Given the description of an element on the screen output the (x, y) to click on. 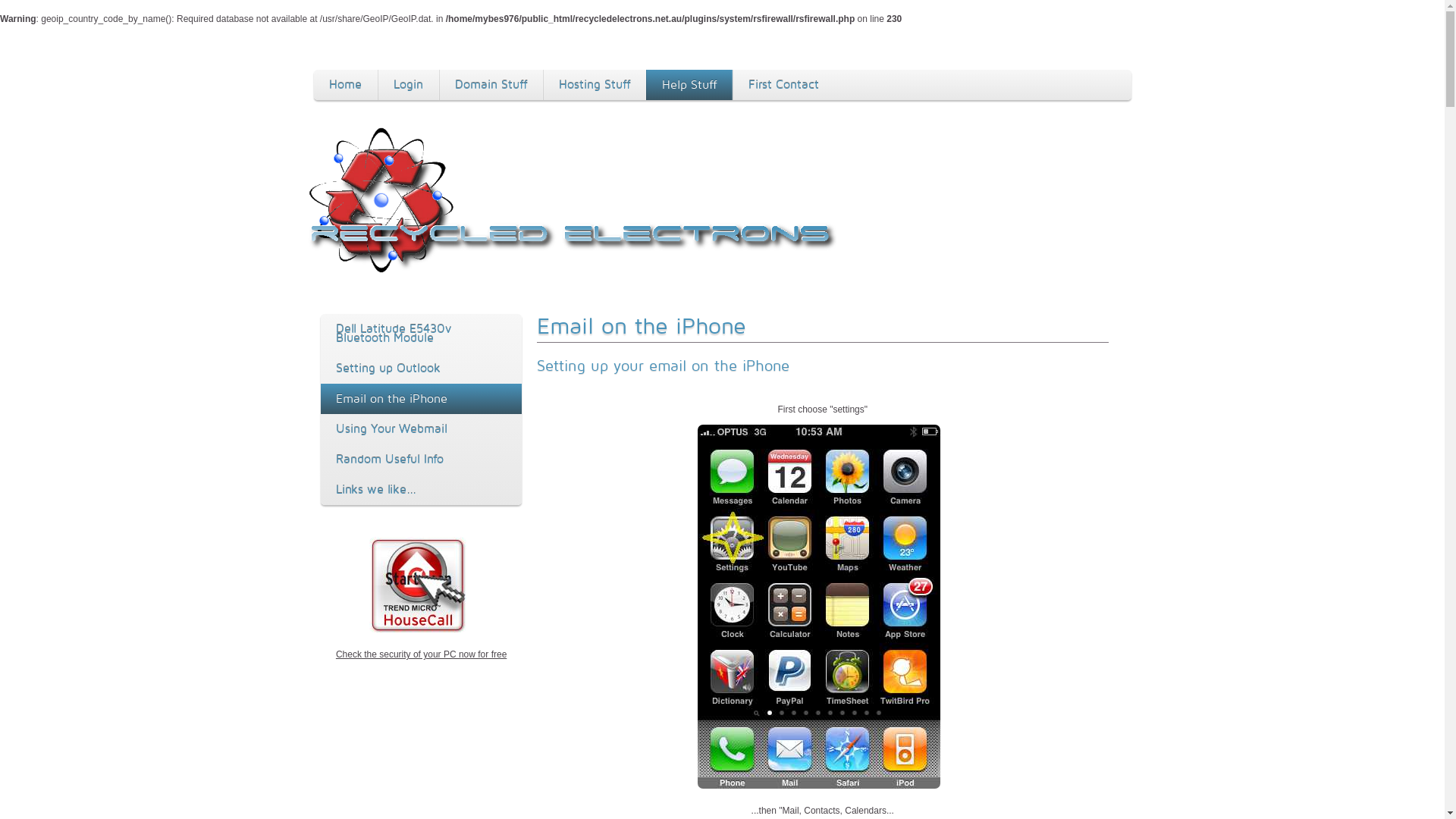
Domain Stuff Element type: text (490, 84)
Dell Latitude E5430v Bluetooth Module Element type: text (420, 333)
Home Element type: text (345, 84)
Login Element type: text (408, 84)
Help Stuff Element type: text (689, 84)
Check the security of your PC now for free Element type: text (420, 654)
Links we like... Element type: text (420, 489)
Using Your Webmail Element type: text (420, 429)
Setting up Outlook Element type: text (420, 368)
Email on the iPhone Element type: text (420, 398)
Random Useful Info Element type: text (420, 459)
Hosting Stuff Element type: text (594, 84)
First Contact Element type: text (783, 84)
